Given the description of an element on the screen output the (x, y) to click on. 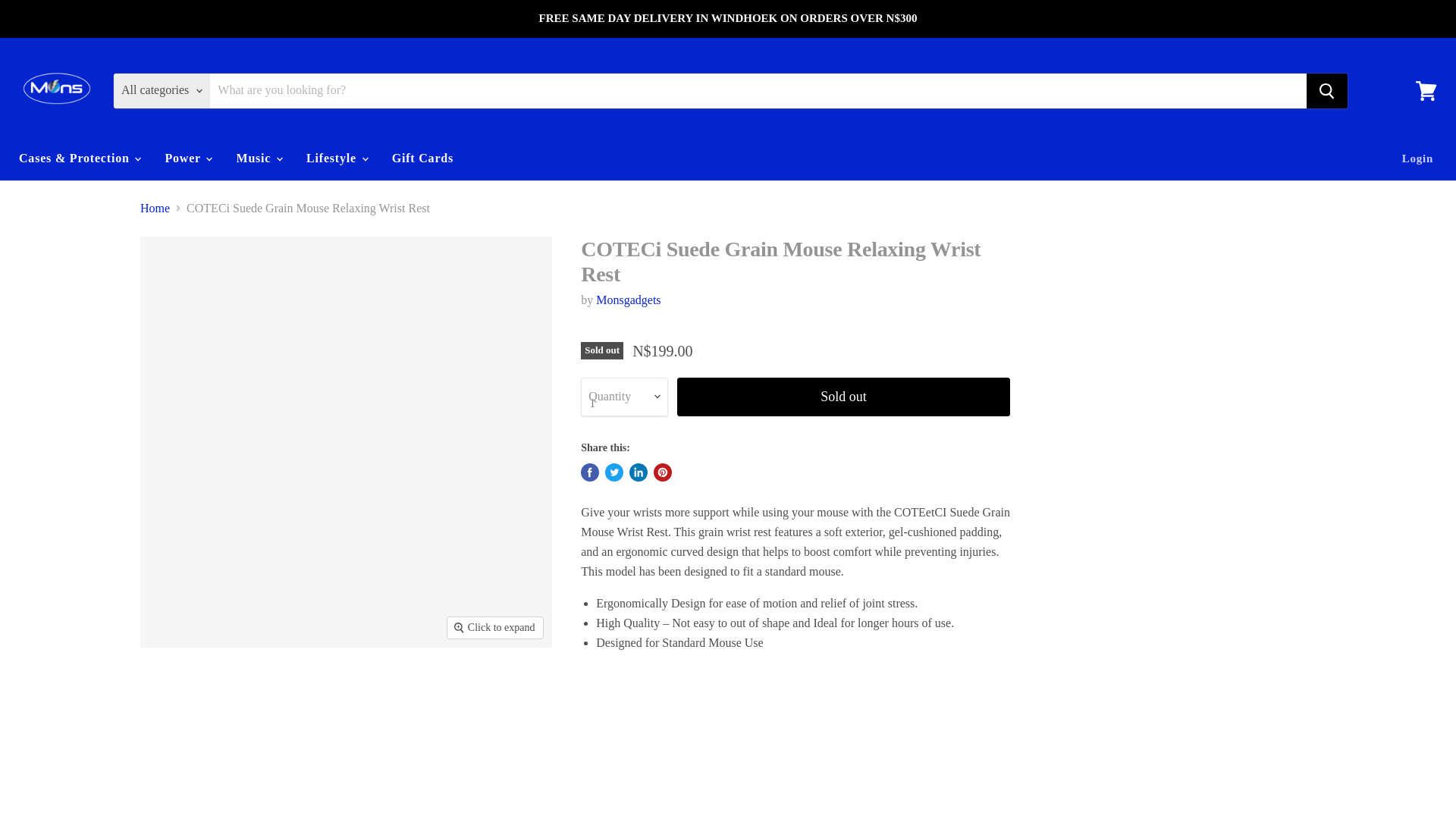
View cart (1425, 89)
Monsgadgets (628, 299)
